Given the description of an element on the screen output the (x, y) to click on. 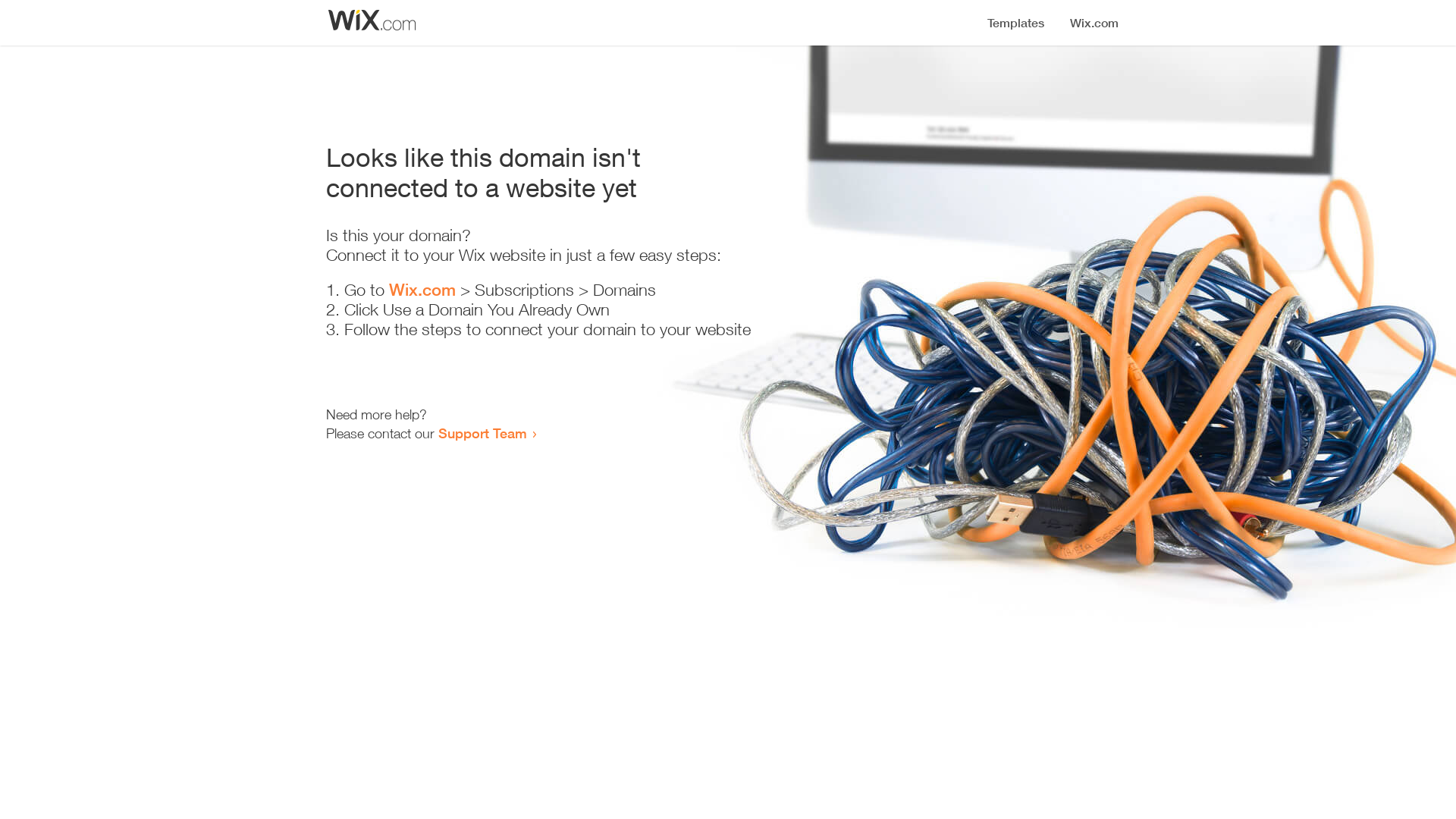
Support Team Element type: text (482, 432)
Wix.com Element type: text (422, 289)
